Given the description of an element on the screen output the (x, y) to click on. 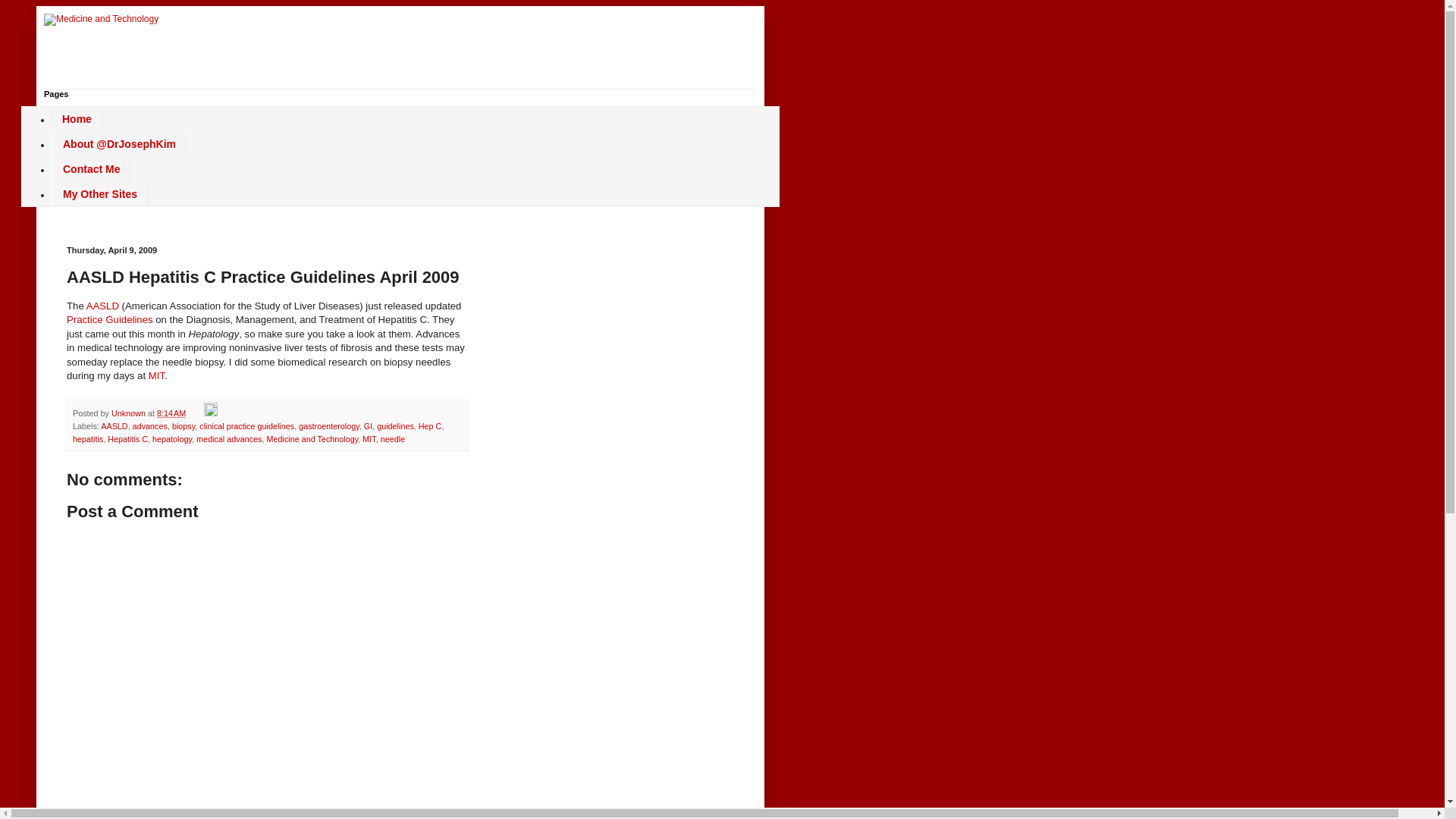
guidelines (395, 425)
Home (76, 119)
Hep C (430, 425)
My Other Sites (99, 193)
AASLD (102, 306)
Hepatitis C (127, 438)
AASLD (114, 425)
permanent link (171, 412)
Contact Me (90, 169)
hepatitis (87, 438)
MIT (156, 375)
Email Post (195, 412)
needle (392, 438)
clinical practice guidelines (246, 425)
GI (368, 425)
